Given the description of an element on the screen output the (x, y) to click on. 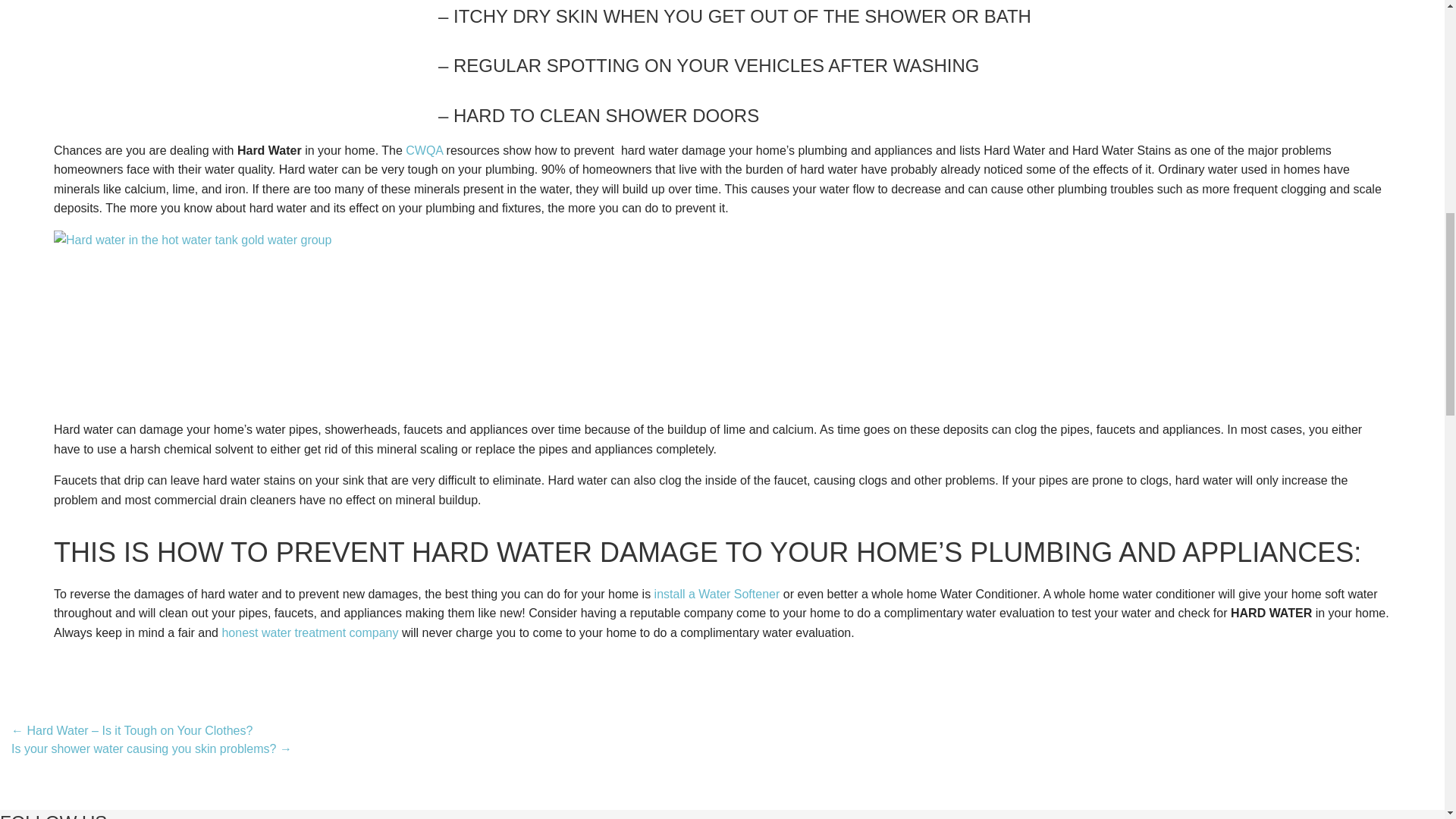
install a Water Softener (716, 594)
CWQA (424, 150)
honest water treatment company (309, 632)
